Given the description of an element on the screen output the (x, y) to click on. 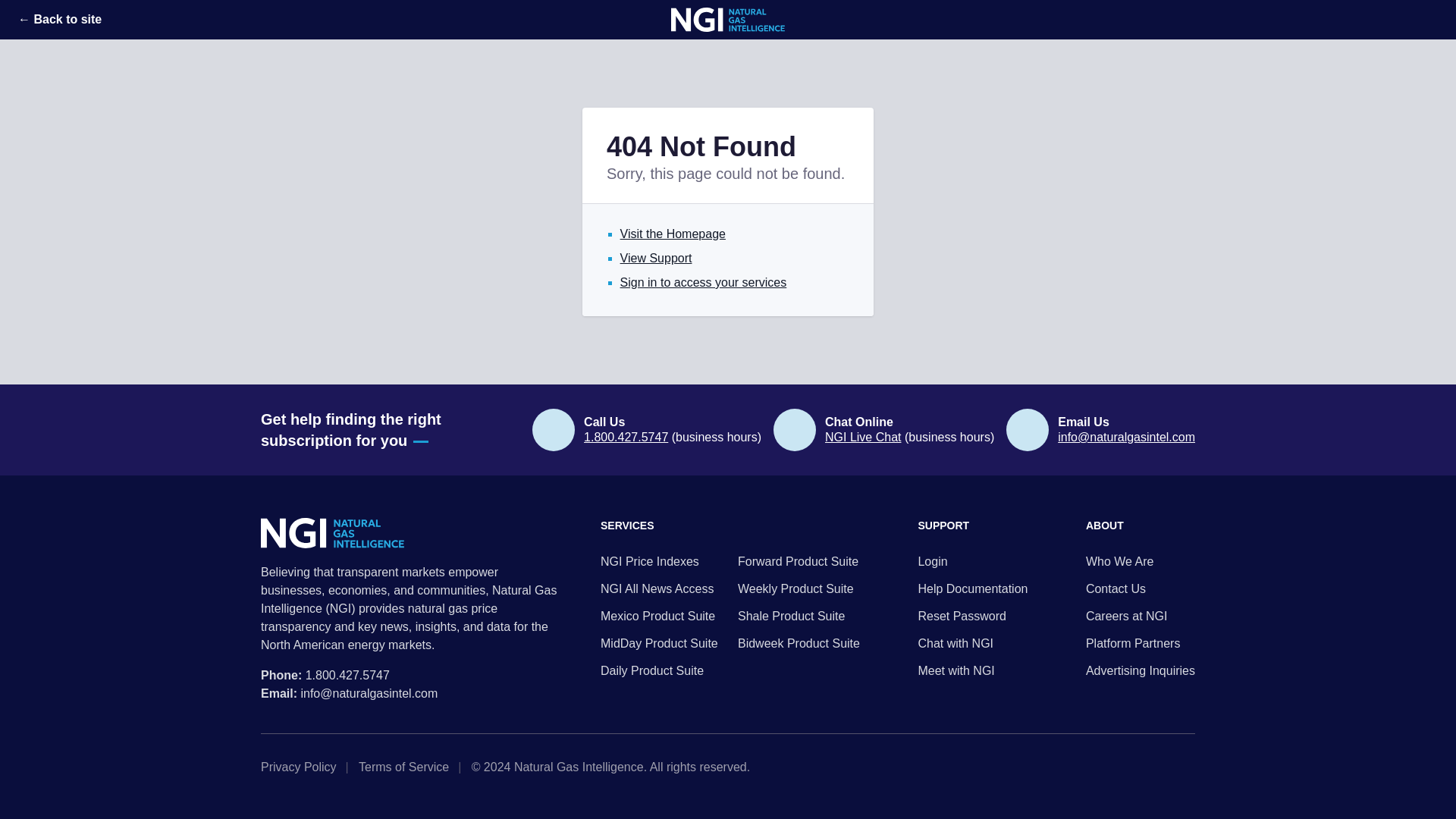
Shale Product Suite (799, 616)
View Support (656, 257)
Forward Product Suite (799, 561)
LinkedIn (1164, 766)
Platform Partners (1140, 643)
NGI All News Access (660, 588)
1.800.427.5747 (625, 436)
Who We Are (1140, 561)
Sign in to access your services (703, 282)
NGI Price Indexes (660, 561)
Advertising Inquiries (1140, 670)
1.800.427.5747 (347, 675)
Login (972, 561)
MidDay Product Suite (660, 643)
Facebook (1188, 766)
